Given the description of an element on the screen output the (x, y) to click on. 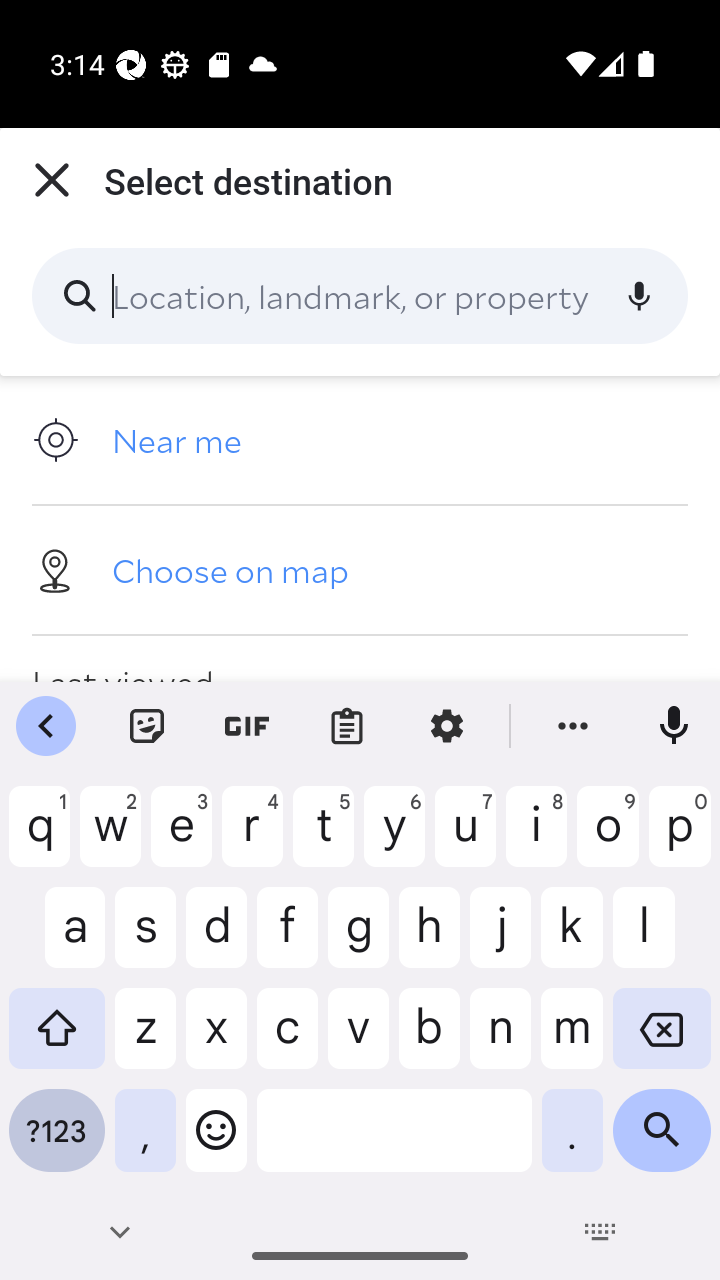
Location, landmark, or property (359, 296)
Near me (360, 440)
Choose on map (360, 569)
